Given the description of an element on the screen output the (x, y) to click on. 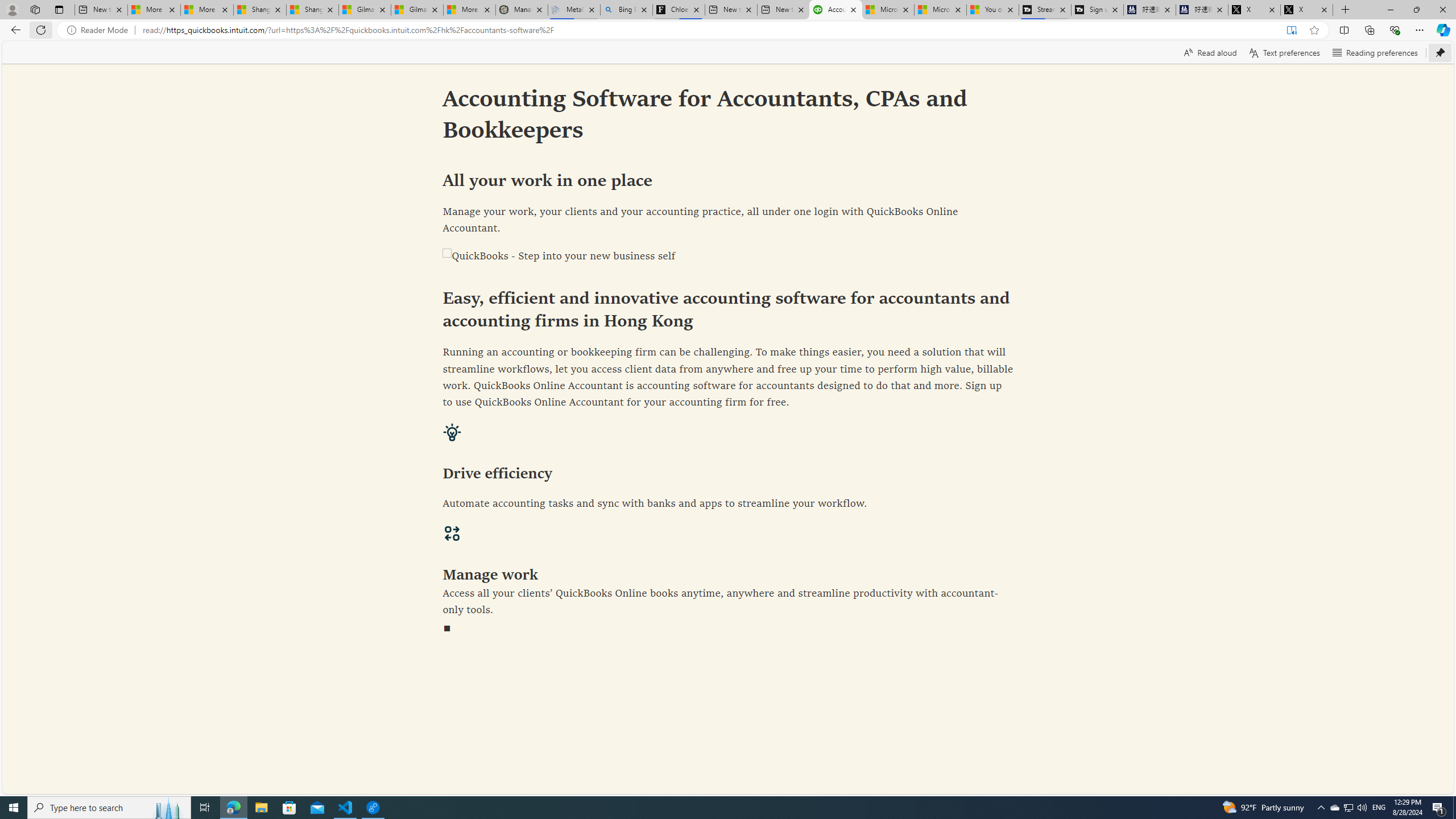
Microsoft Start (940, 9)
Streaming Coverage | T3 (1044, 9)
Address and search bar (709, 29)
Unpin toolbar (1439, 52)
Shanghai, China weather forecast | Microsoft Weather (312, 9)
Exit Immersive Reader (F9) (1291, 29)
